Given the description of an element on the screen output the (x, y) to click on. 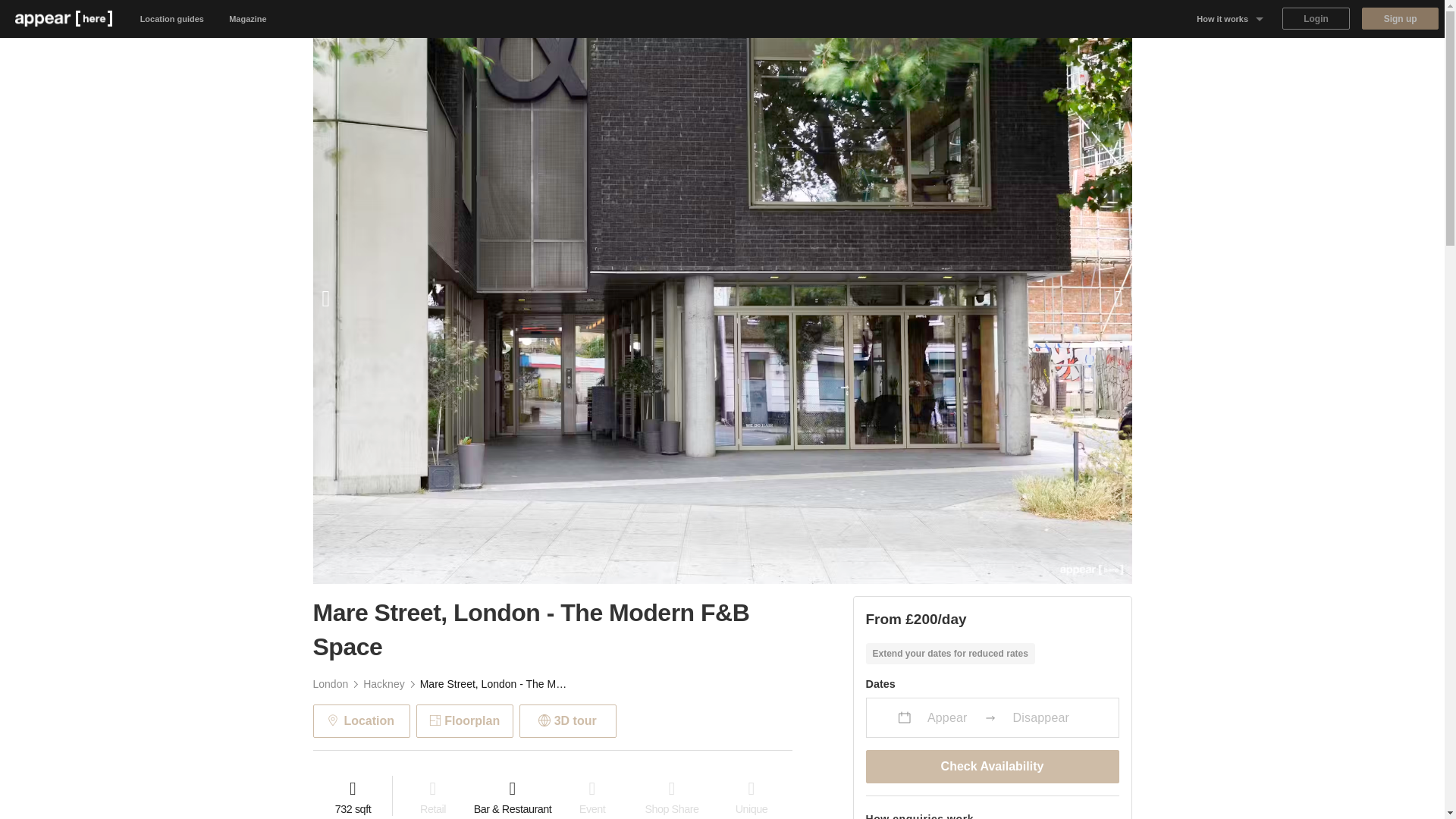
Magazine (247, 18)
Why Appear Here (1230, 56)
Location guides (172, 18)
How it works (1230, 18)
